Given the description of an element on the screen output the (x, y) to click on. 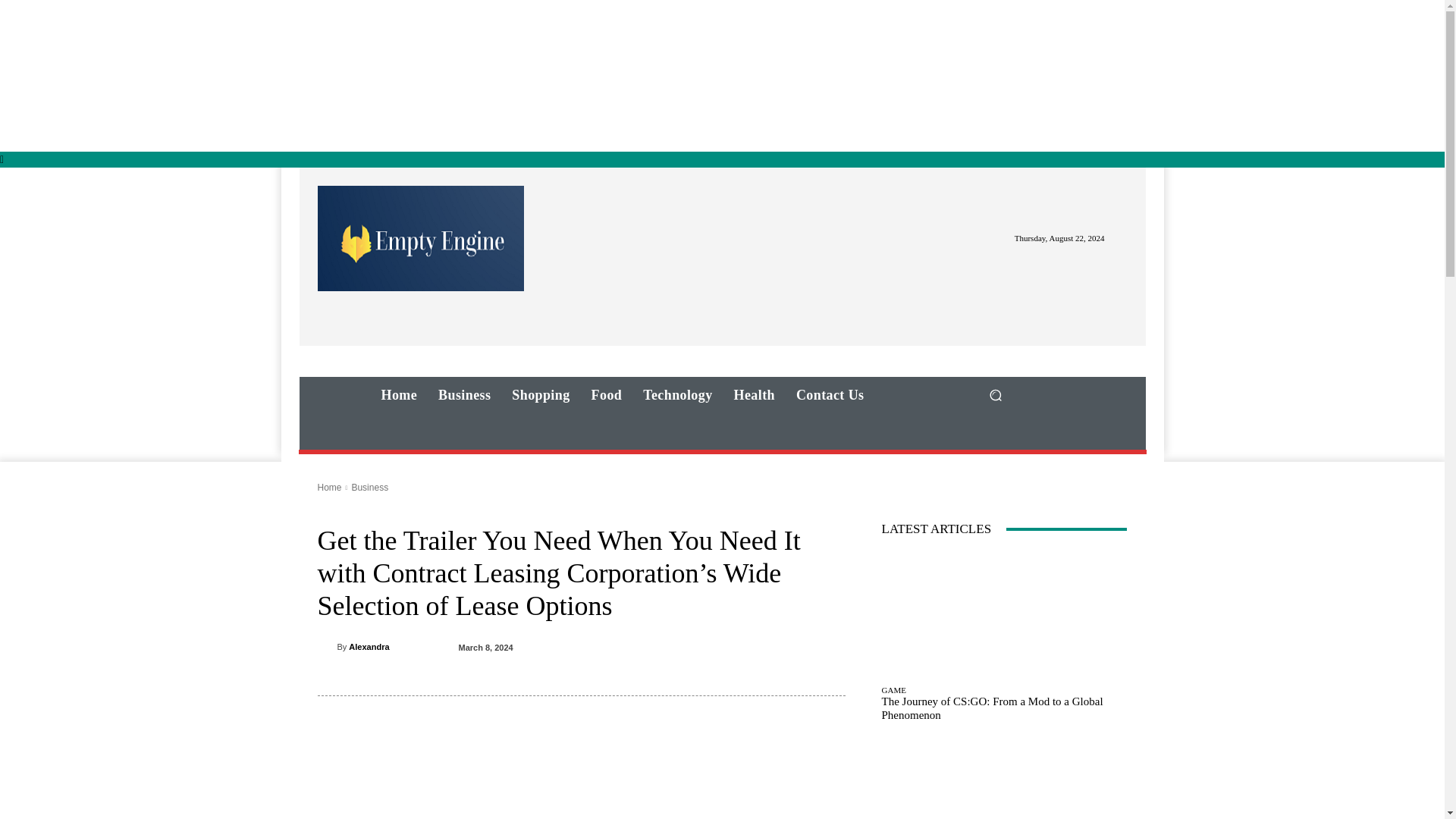
Home (398, 394)
The Journey of CS:GO: From a Mod to a Global Phenomenon (991, 708)
Health (754, 394)
Home (328, 487)
Contact Us (830, 394)
Business (464, 394)
View all posts in Business (369, 487)
Technology (676, 394)
Shopping (539, 394)
